Given the description of an element on the screen output the (x, y) to click on. 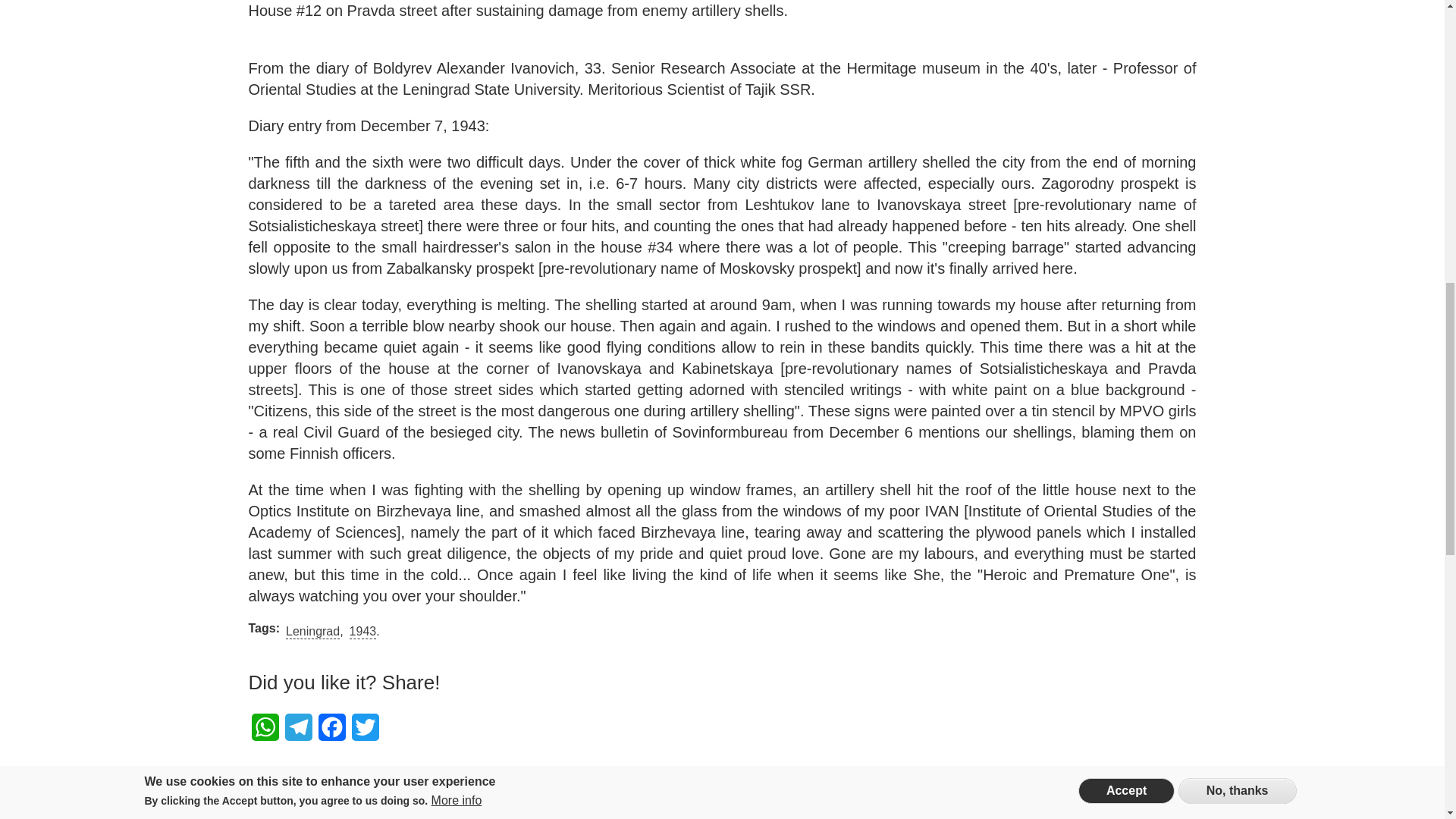
WhatsApp (265, 727)
Telegram (298, 727)
Leningrad (312, 631)
1943 (363, 631)
Facebook (332, 727)
Twitter (365, 727)
